Given the description of an element on the screen output the (x, y) to click on. 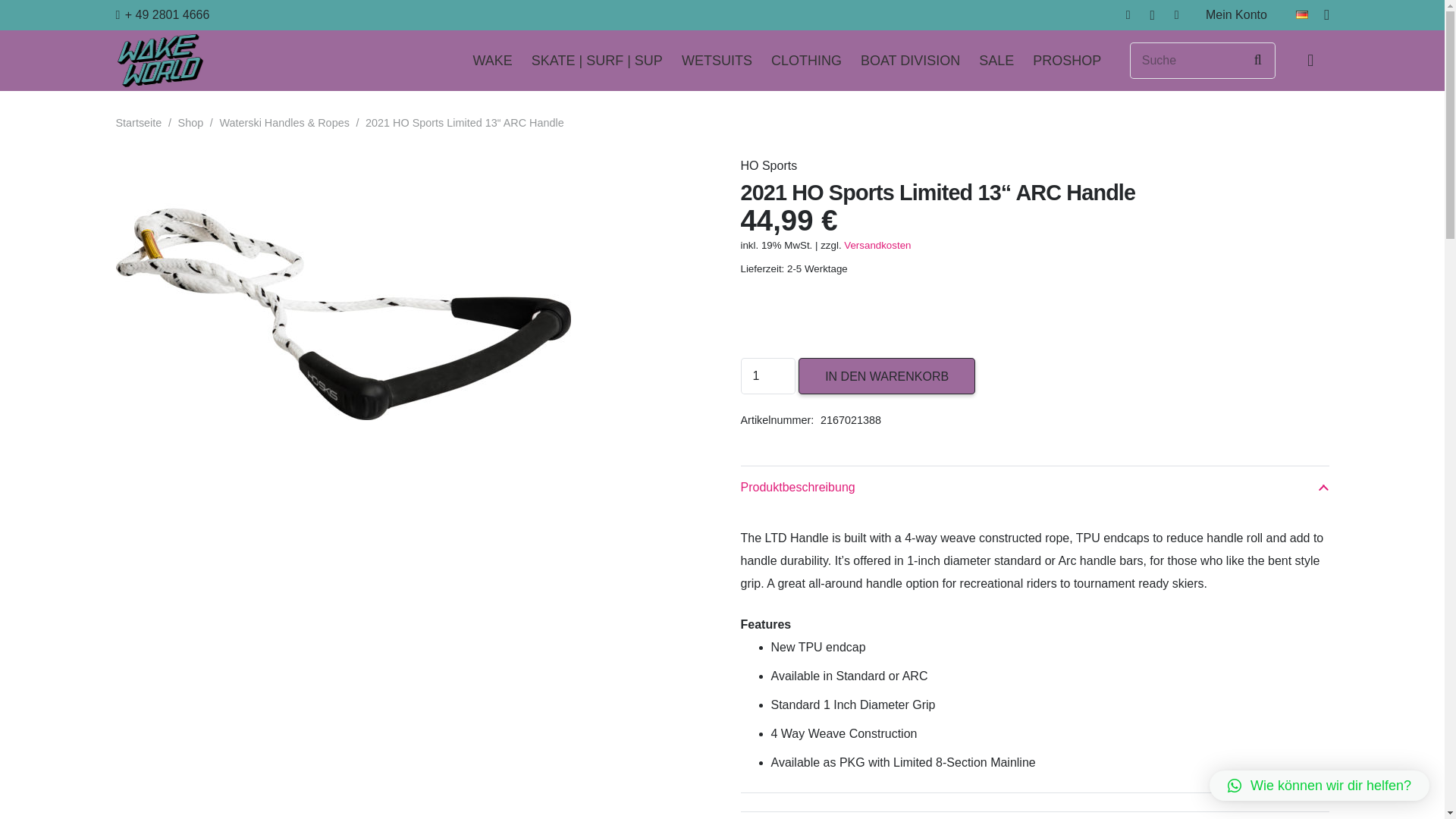
Instagram (1152, 15)
1 (766, 375)
WAKE (491, 60)
YouTube (1176, 15)
Facebook (1128, 15)
Menge (766, 375)
Mein Konto (1033, 815)
